Given the description of an element on the screen output the (x, y) to click on. 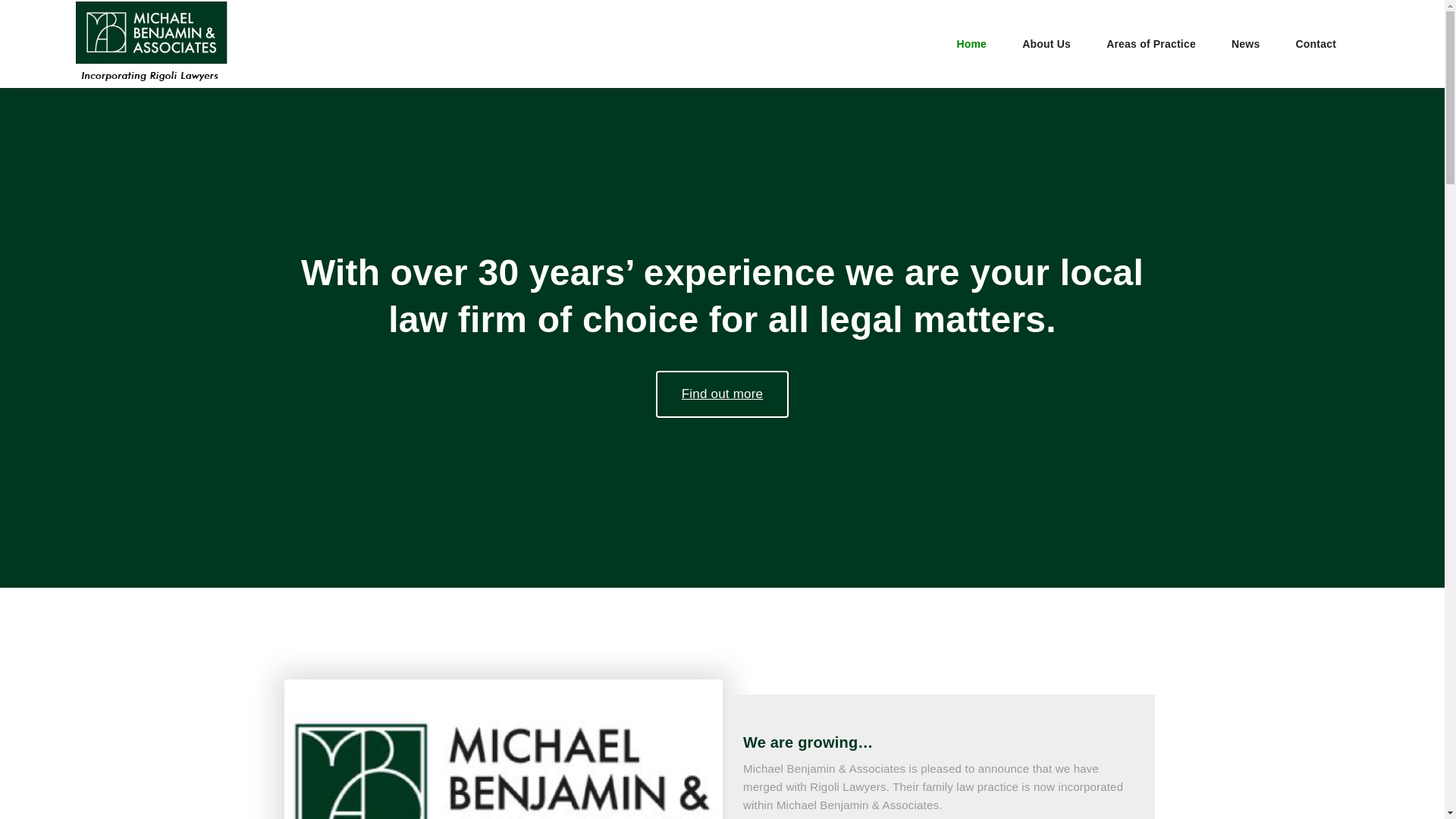
Areas of Practice Element type: text (1150, 44)
Contact Element type: text (1315, 44)
Find out more Element type: text (721, 393)
About Us Element type: text (1046, 44)
Home Element type: text (971, 44)
News Element type: text (1245, 44)
